Given the description of an element on the screen output the (x, y) to click on. 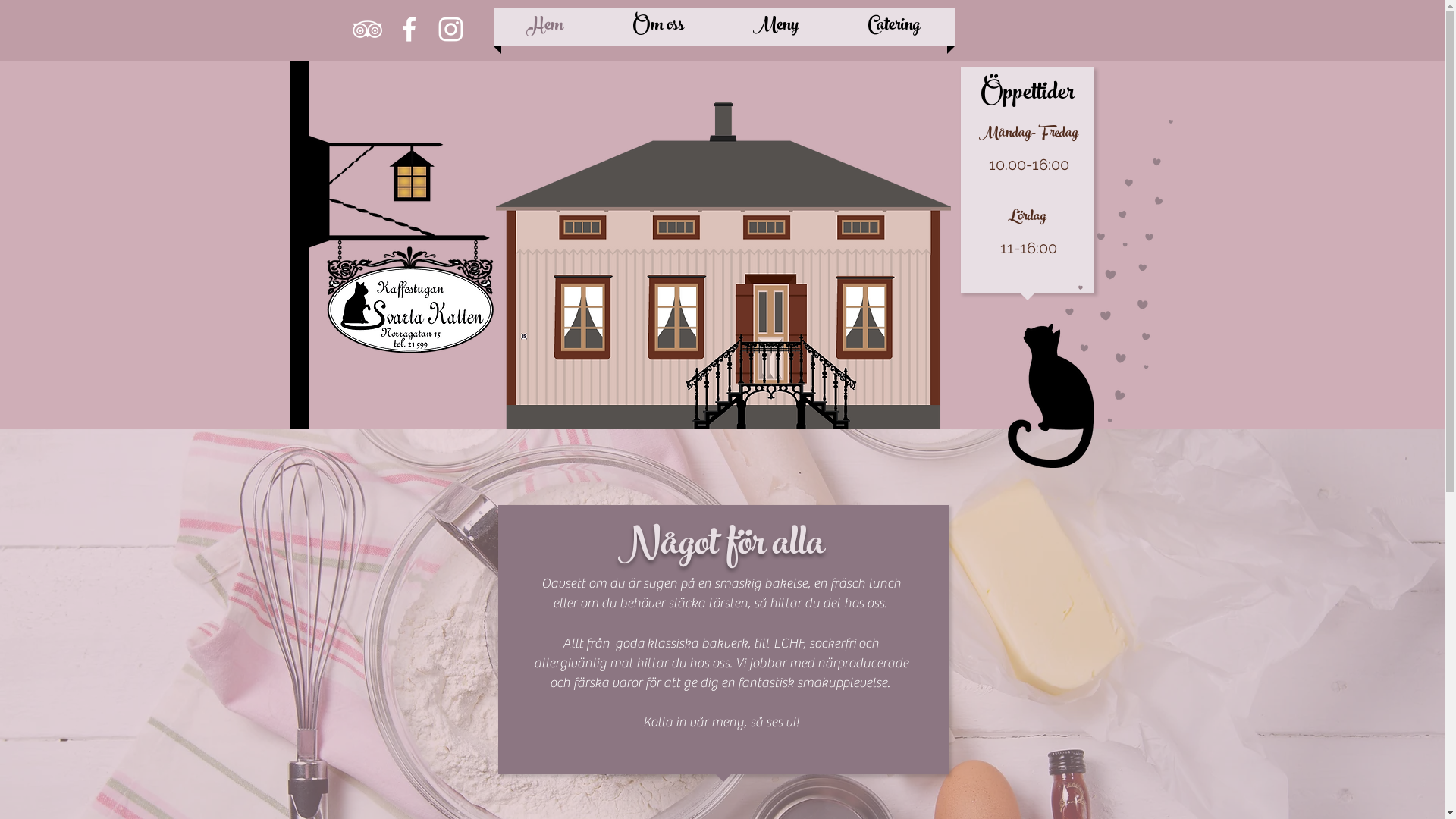
Catering Element type: text (892, 27)
Om oss Element type: text (657, 27)
Meny Element type: text (775, 27)
Hem Element type: text (544, 27)
